Given the description of an element on the screen output the (x, y) to click on. 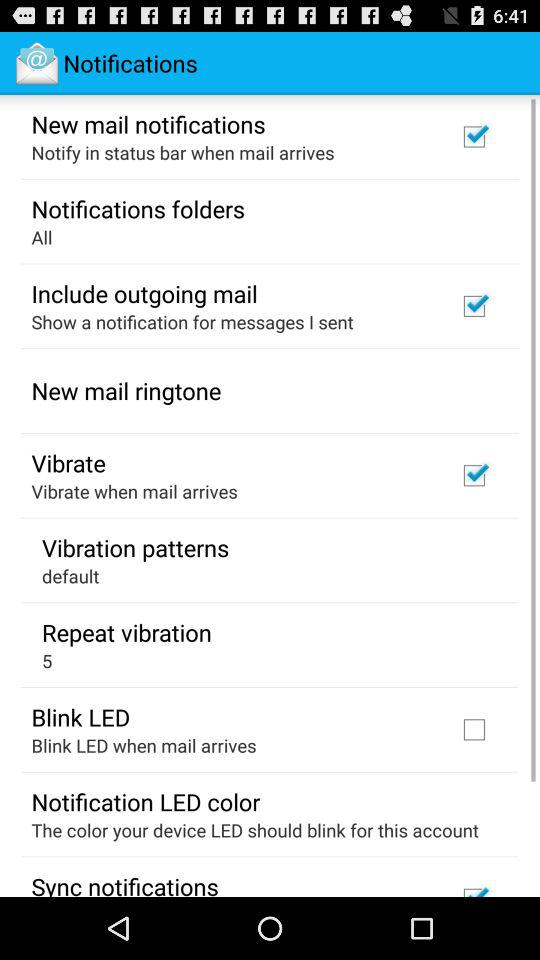
open the vibration patterns item (135, 547)
